Given the description of an element on the screen output the (x, y) to click on. 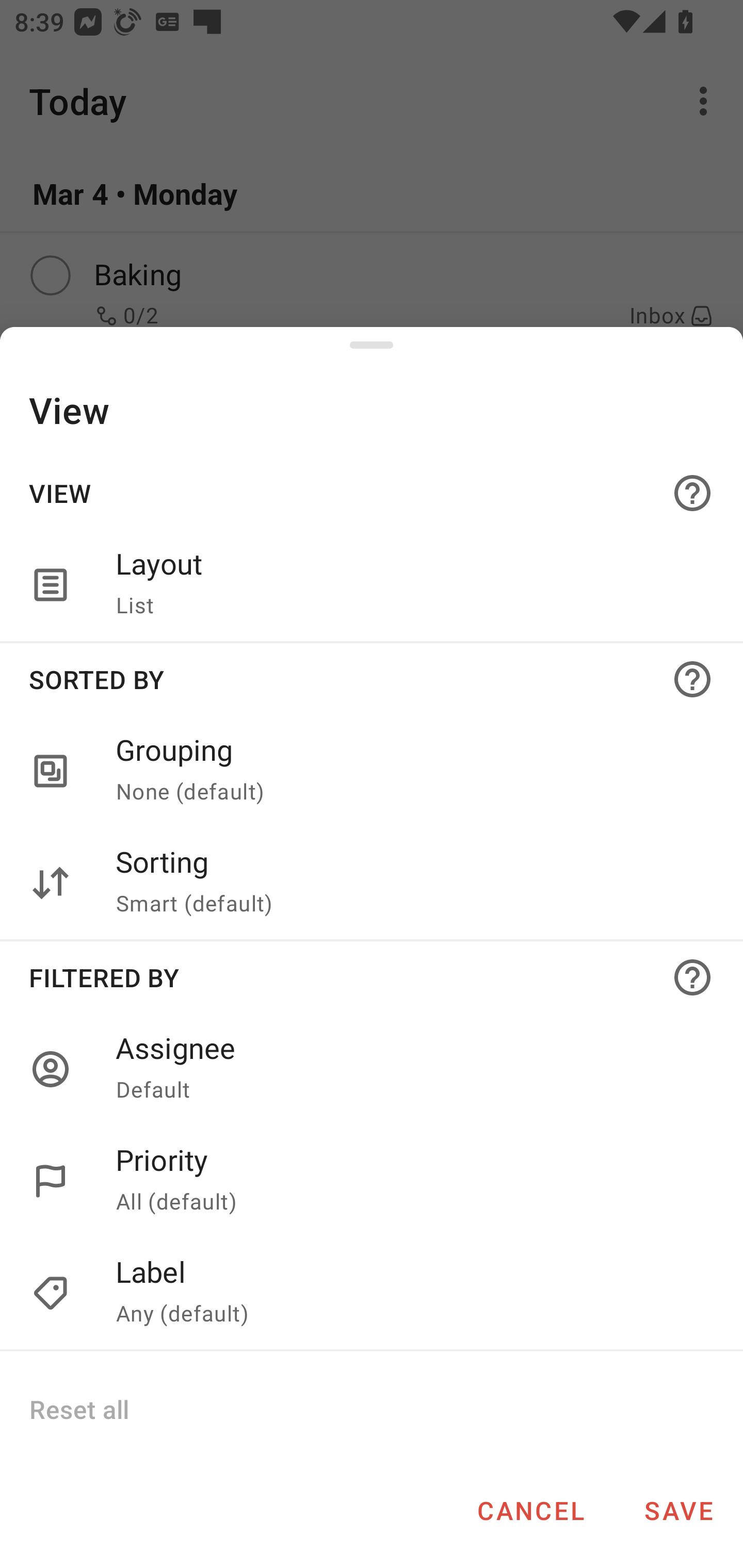
Layout List (371, 585)
Layout List (407, 585)
SORTED BY (371, 678)
Grouping None (default) (371, 771)
Grouping None (default) (407, 771)
Sorting Smart (default) (371, 883)
Sorting Smart (default) (407, 883)
FILTERED BY (371, 976)
Assignee Default (371, 1068)
Assignee Default (407, 1068)
Priority All (default) (371, 1181)
Priority All (default) (407, 1181)
Label Any (default) (371, 1293)
Label Any (default) (407, 1293)
Reset all (78, 1408)
CANCEL (530, 1510)
SAVE (678, 1510)
